Given the description of an element on the screen output the (x, y) to click on. 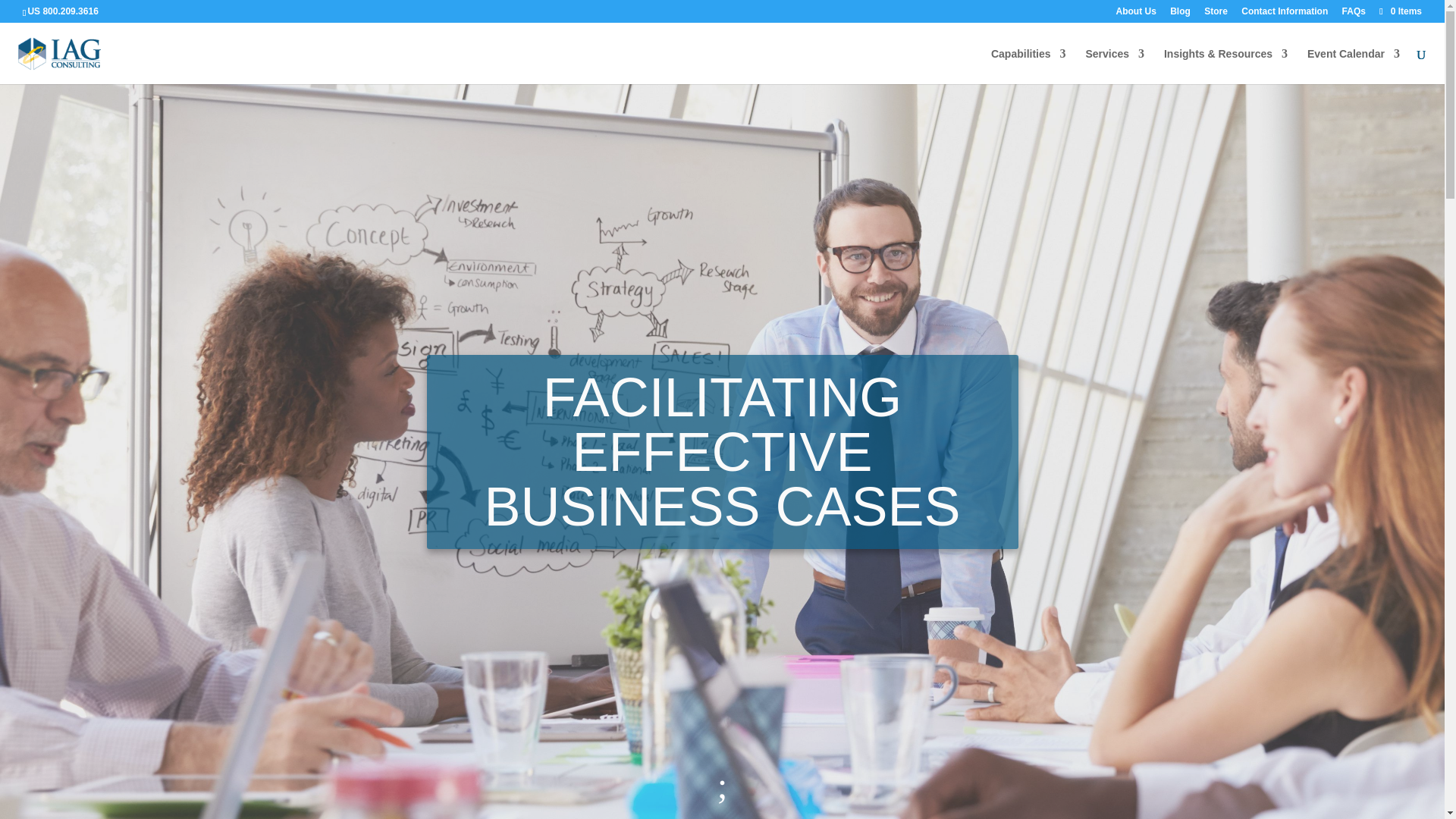
About Us (1136, 14)
Event Calendar (1353, 66)
Store (1215, 14)
Services (1114, 66)
Blog (1180, 14)
Contact Information (1284, 14)
Capabilities (1028, 66)
FAQs (1353, 14)
0 Items (1399, 10)
